Given the description of an element on the screen output the (x, y) to click on. 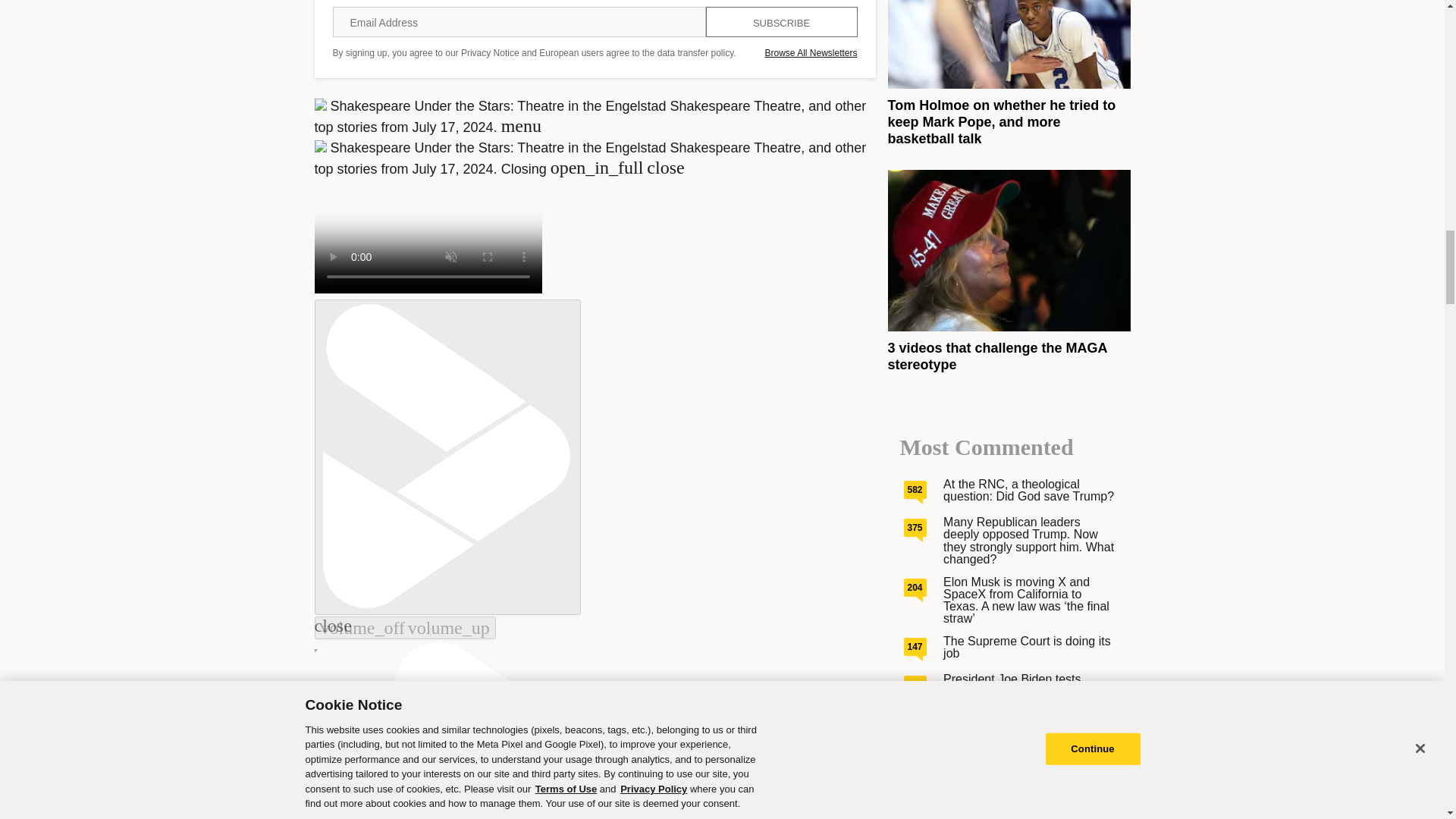
Browse All Newsletters (810, 52)
SUBSCRIBE (780, 21)
